Given the description of an element on the screen output the (x, y) to click on. 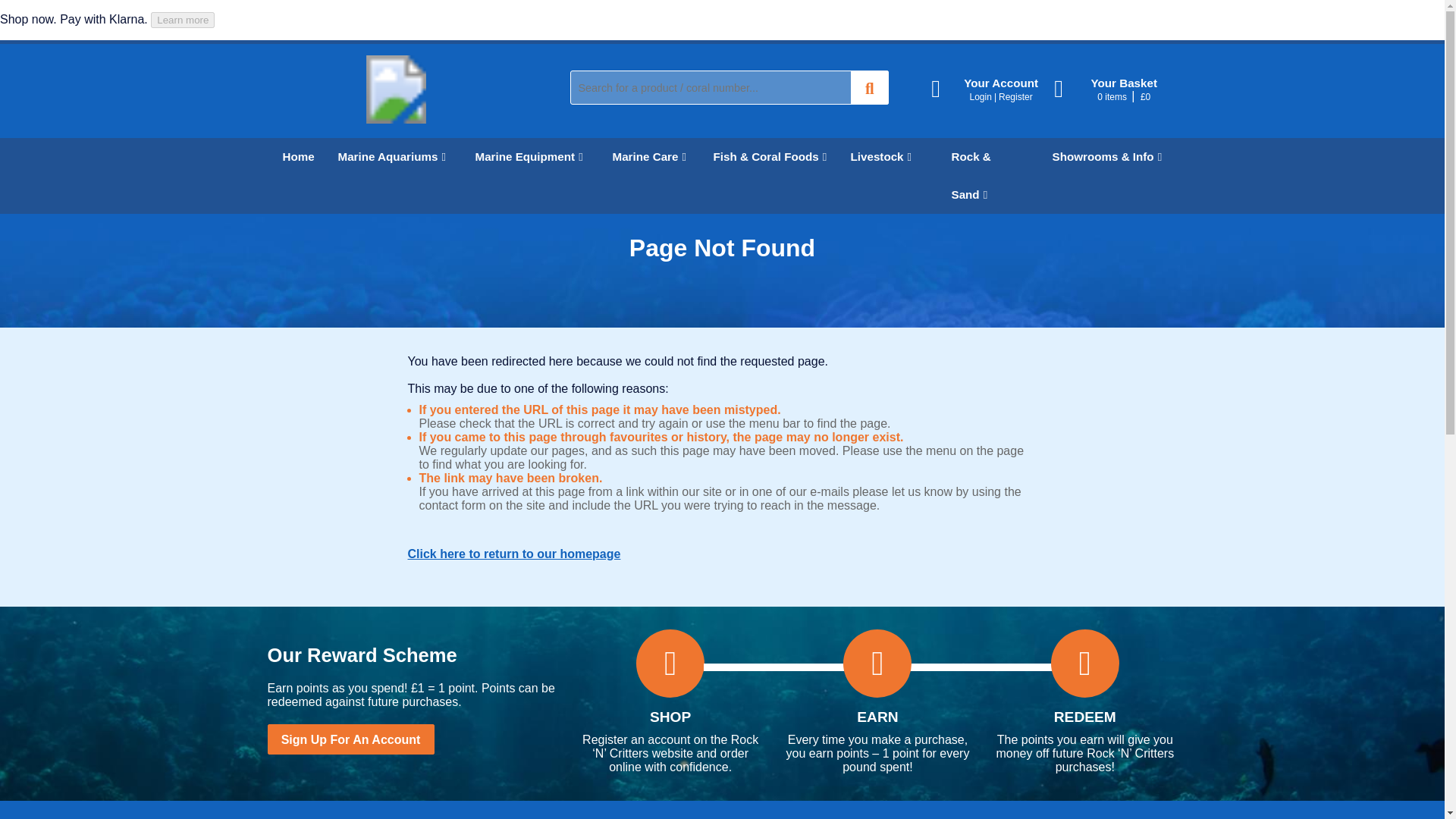
Your Account (992, 89)
Home (293, 157)
Marine Aquariums (391, 157)
Marine Equipment (527, 157)
Marine Equipment (527, 157)
Marine Aquariums (391, 157)
Login (980, 96)
Register (1015, 96)
Register (1015, 96)
Login (980, 96)
